Given the description of an element on the screen output the (x, y) to click on. 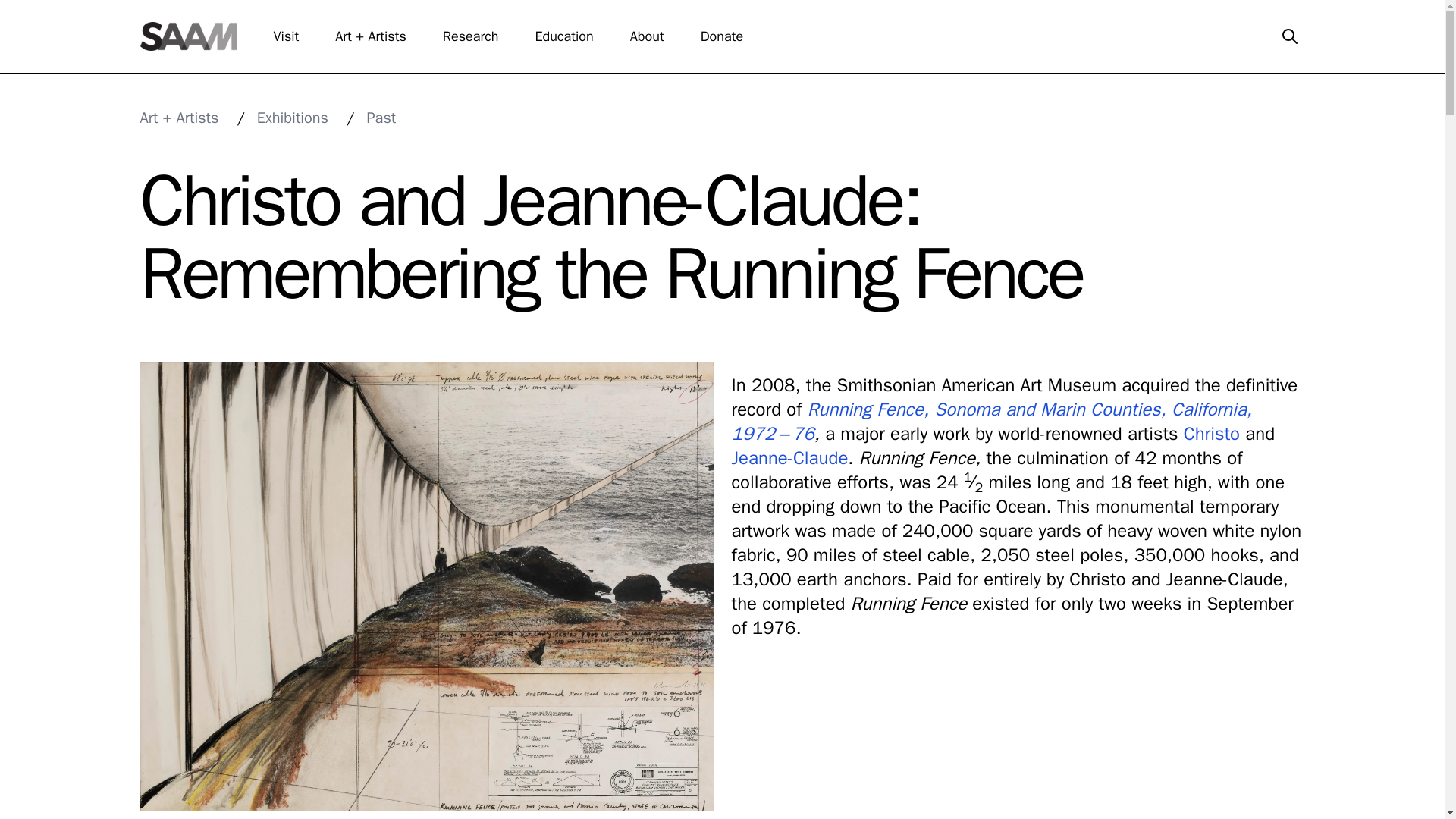
About (656, 35)
Education (572, 35)
Visit (295, 35)
Donate (730, 35)
Research (479, 35)
